Given the description of an element on the screen output the (x, y) to click on. 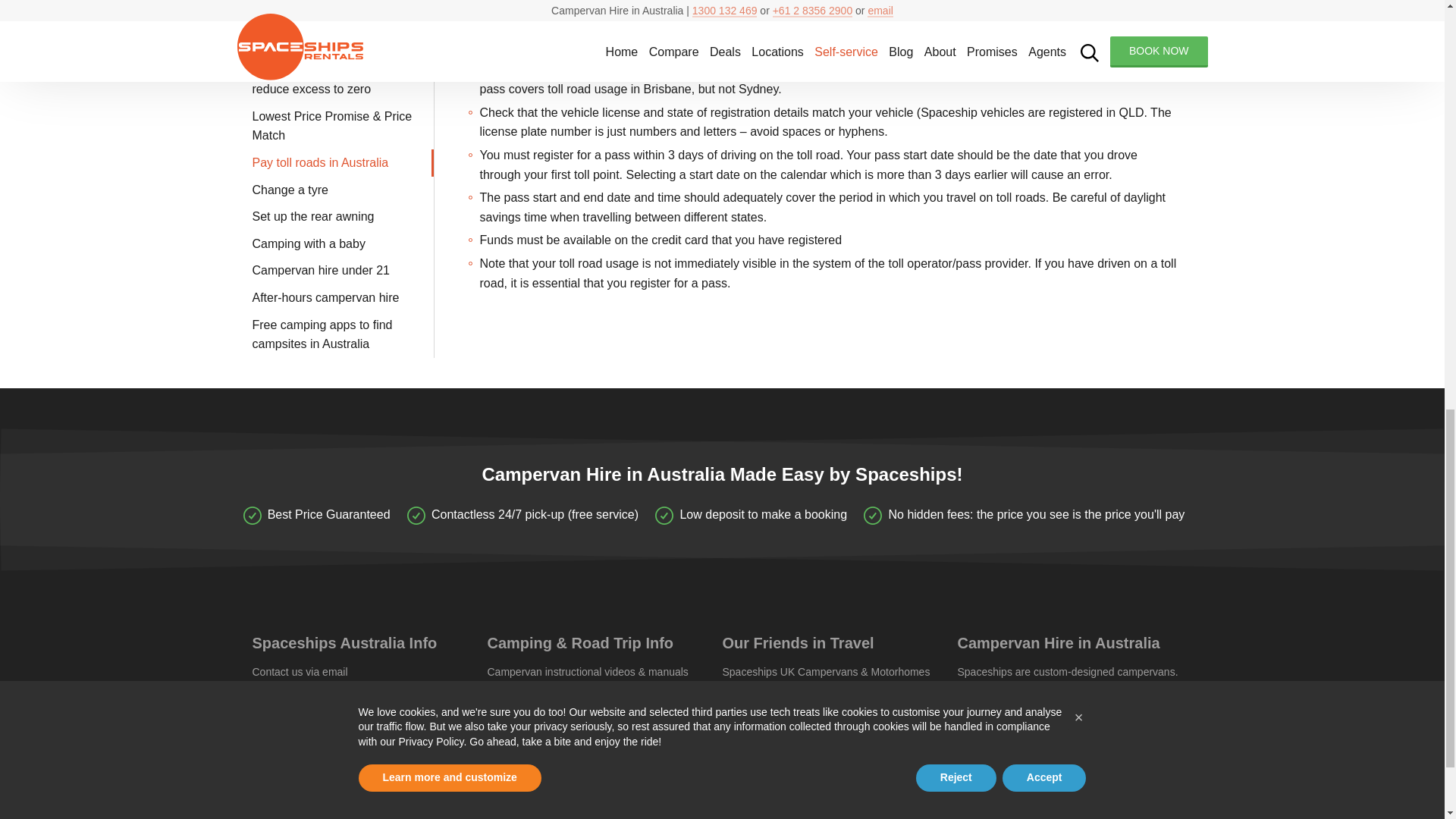
How to get things done on your road trip (566, 705)
Get a Bargain on Amazing Activities in Australia (548, 722)
Contact the Spaceships Australia team via email (299, 671)
